Given the description of an element on the screen output the (x, y) to click on. 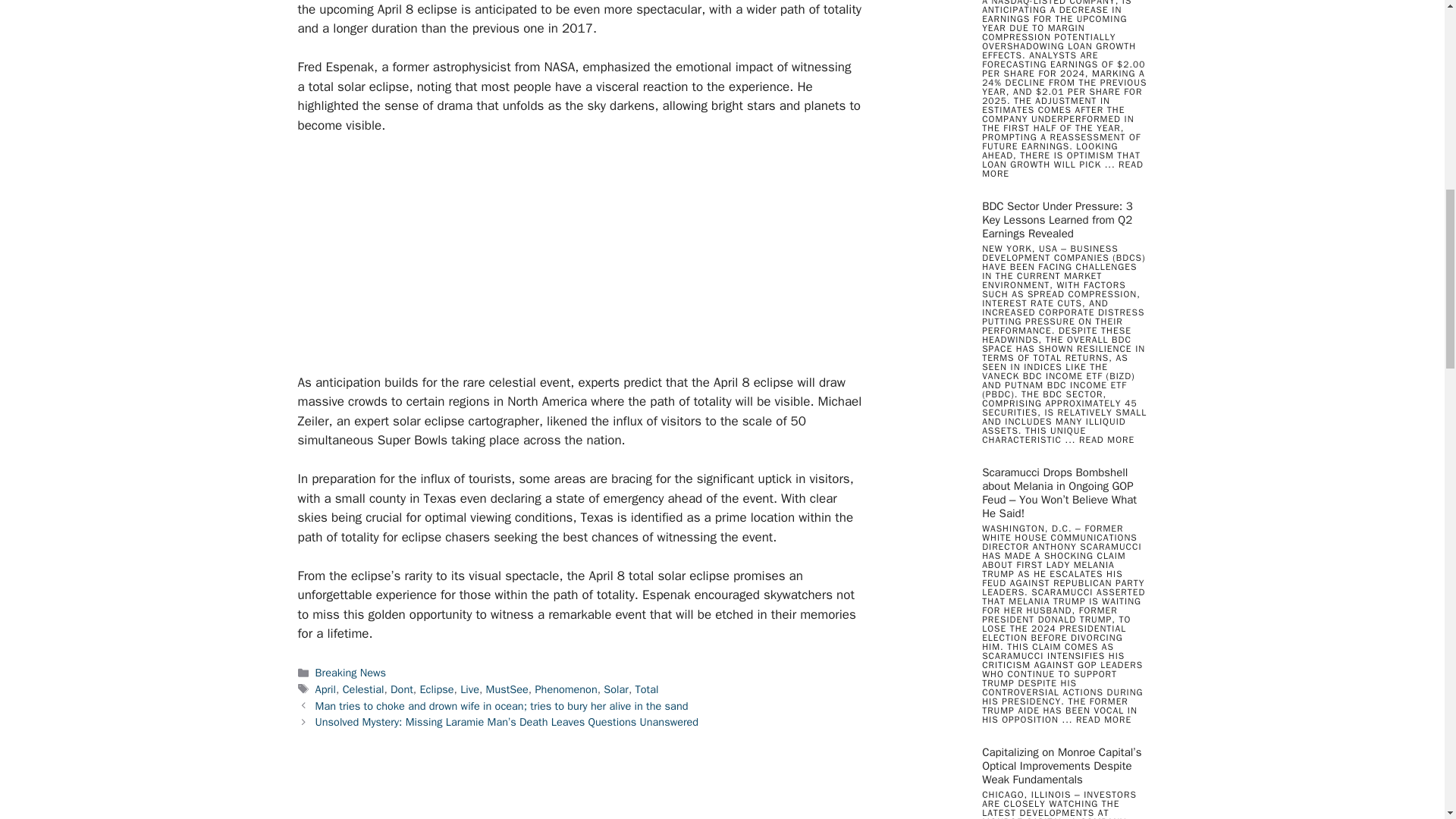
Phenomenon (565, 689)
READ MORE (1061, 168)
READ MORE (1103, 719)
Live (469, 689)
April (325, 689)
Solar (616, 689)
MustSee (507, 689)
